Given the description of an element on the screen output the (x, y) to click on. 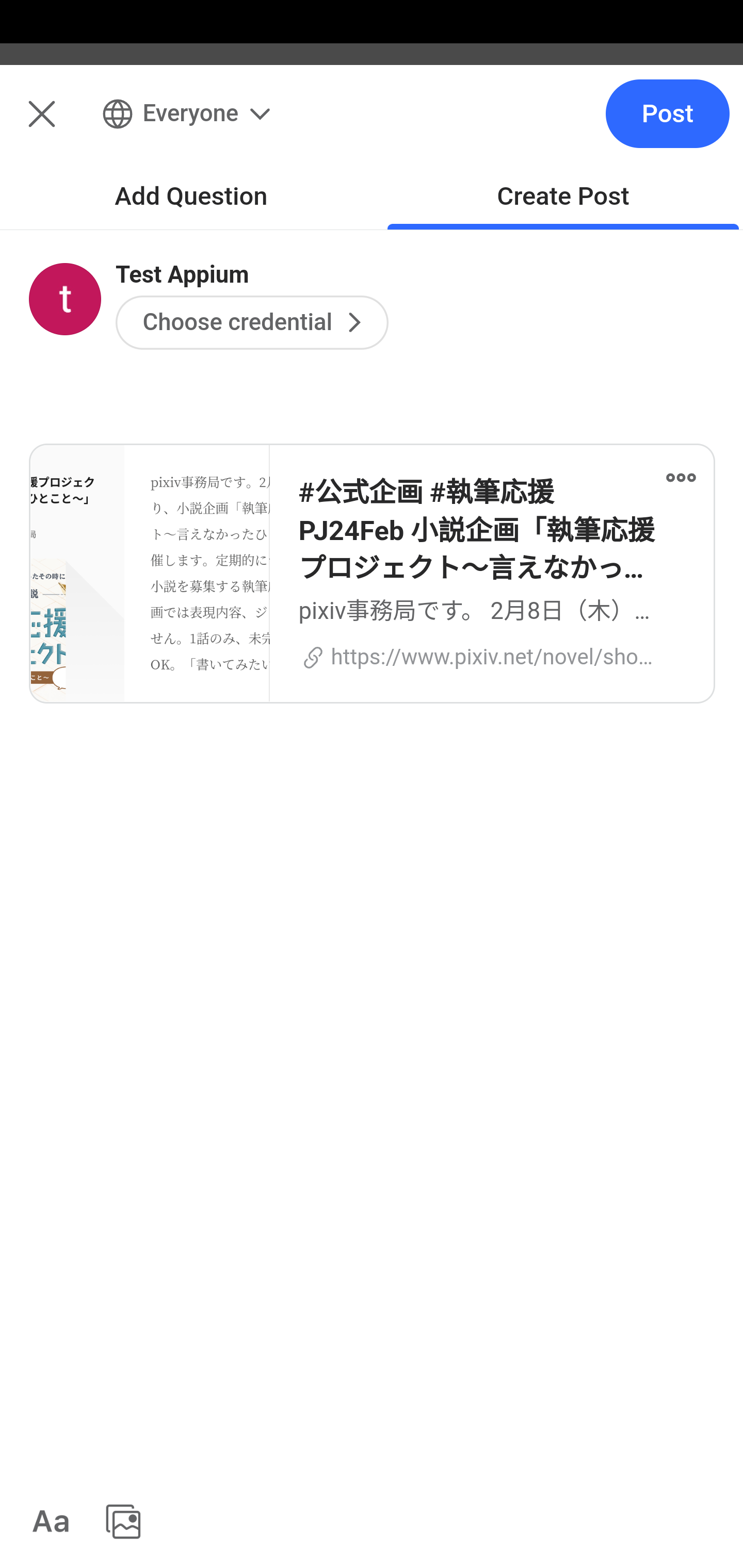
Me Home Search Add (371, 125)
What do you want to ask or share? (408, 216)
